Given the description of an element on the screen output the (x, y) to click on. 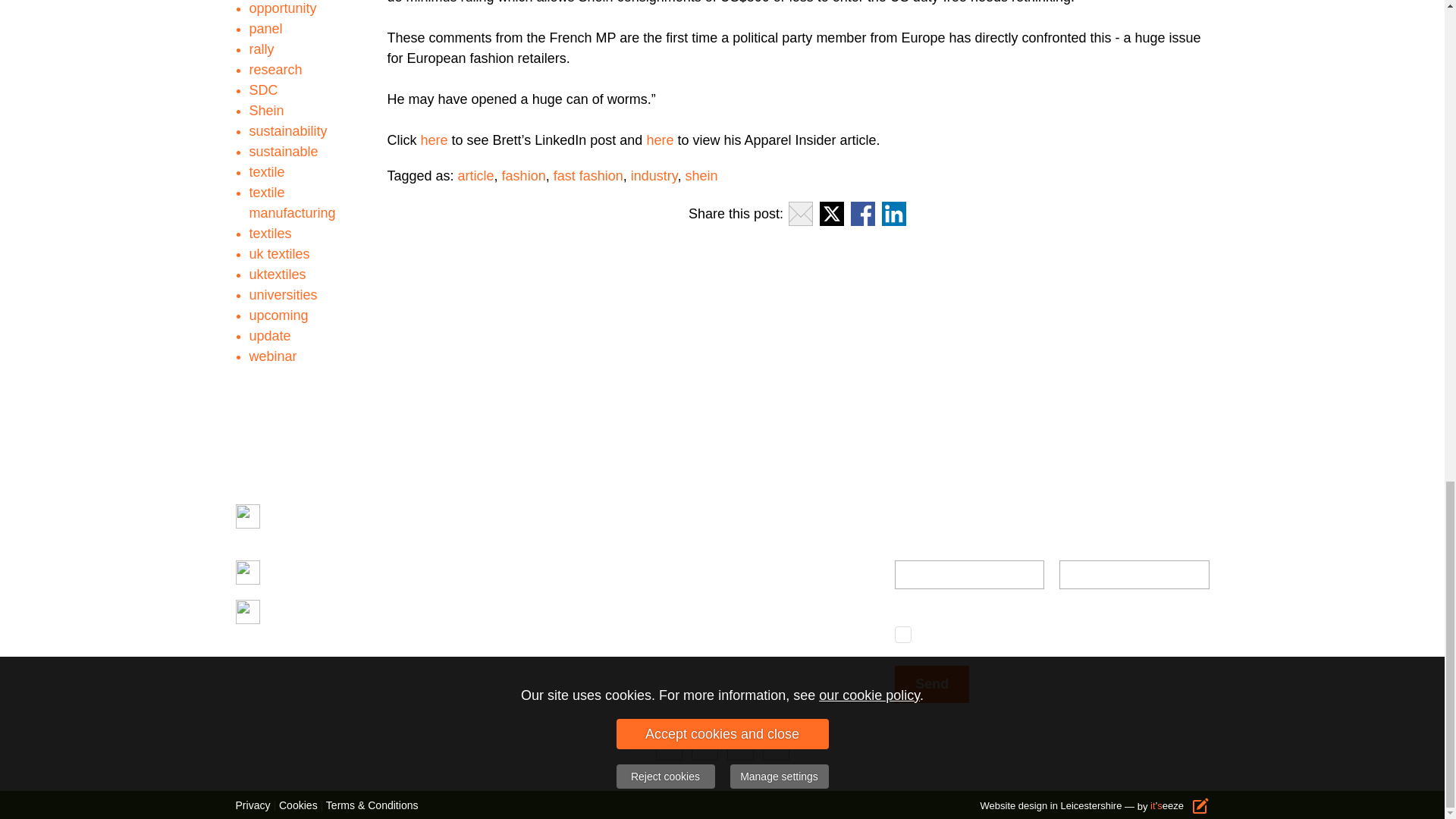
fashion (524, 175)
here (433, 140)
industry (654, 175)
fast fashion (588, 175)
article (476, 175)
here (659, 140)
